Given the description of an element on the screen output the (x, y) to click on. 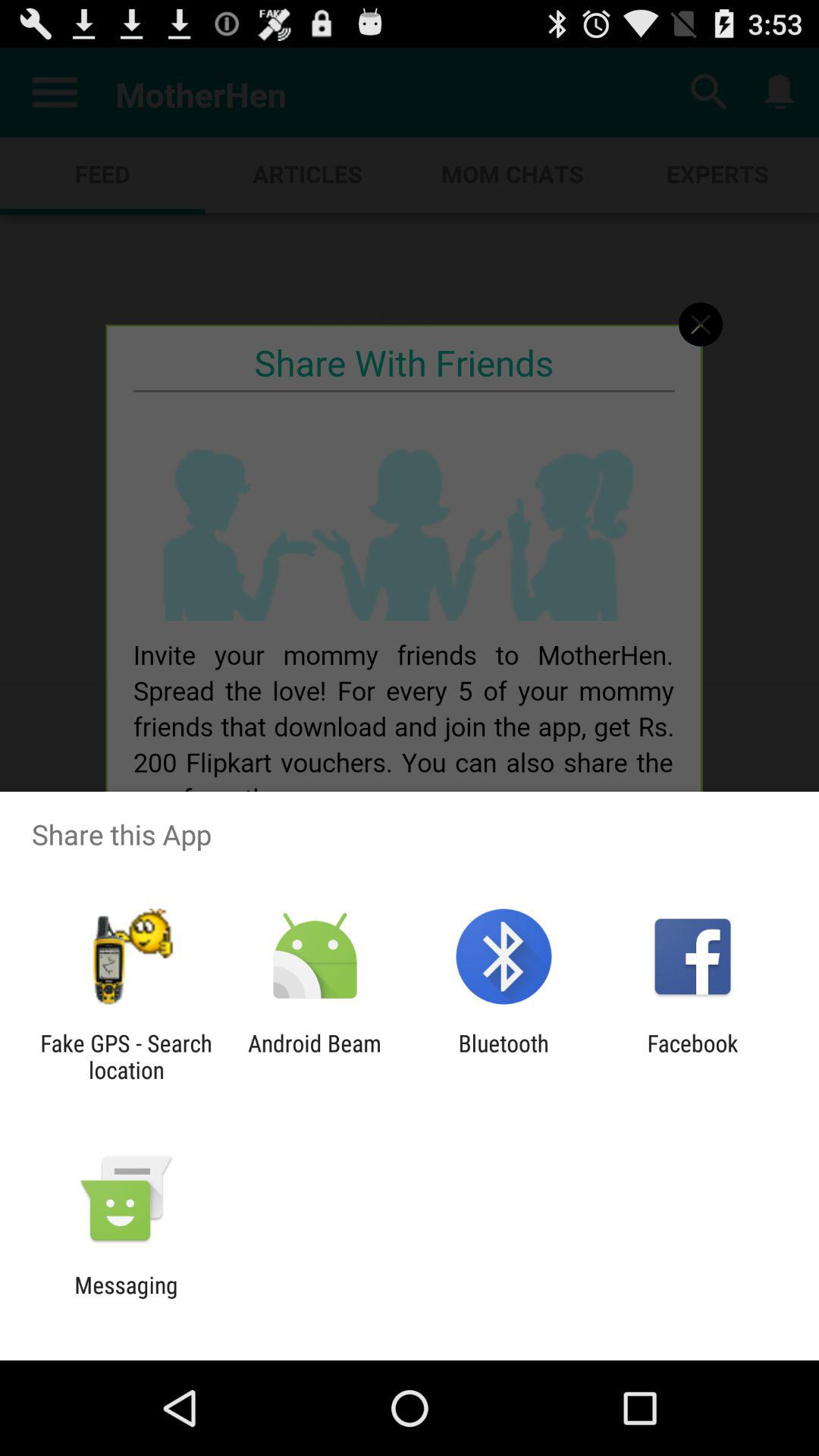
flip until the messaging app (126, 1298)
